Given the description of an element on the screen output the (x, y) to click on. 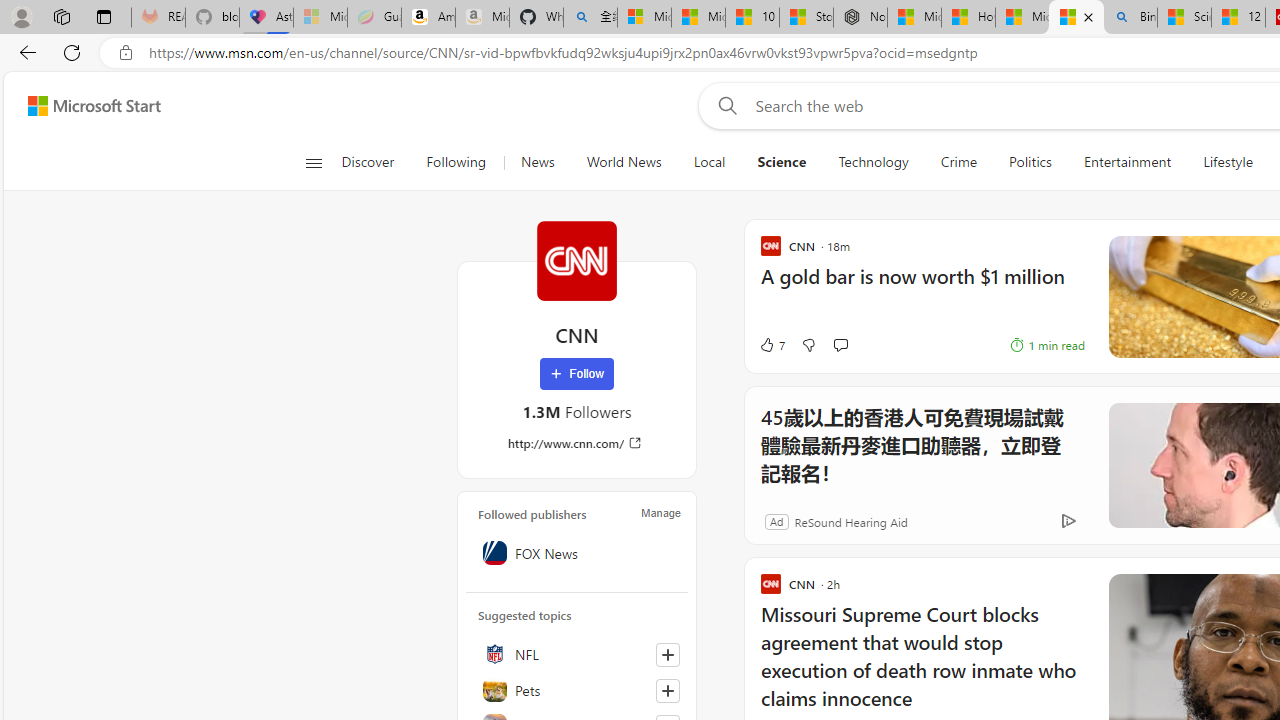
NFL (577, 654)
